Given the description of an element on the screen output the (x, y) to click on. 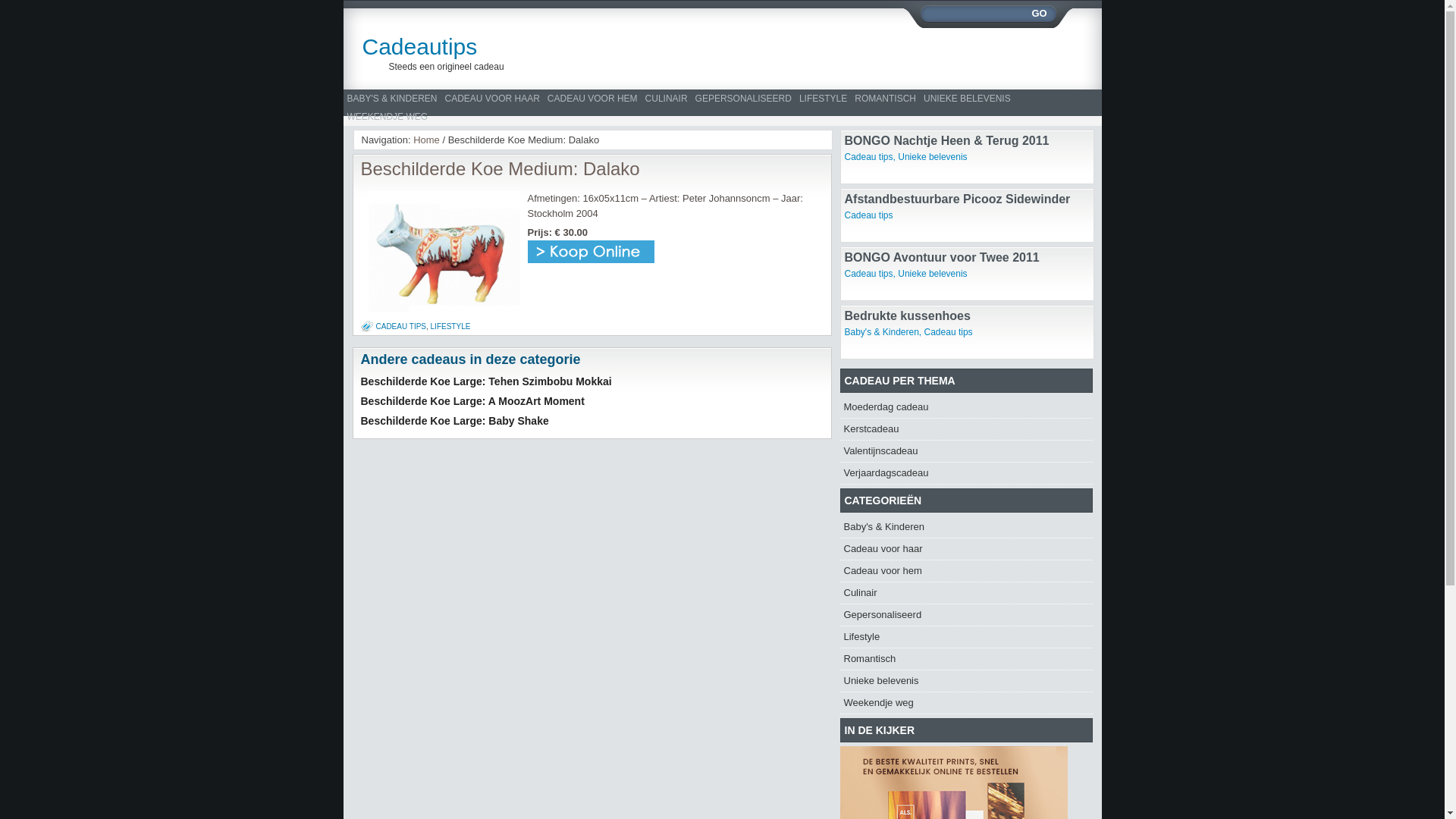
Afstandbestuurbare Picooz Sidewinder helikopter Element type: text (957, 205)
ROMANTISCH Element type: text (884, 98)
Beschilderde Koe Large: Tehen Szimbobu Mokkai Element type: text (485, 381)
CADEAU VOOR HAAR Element type: text (492, 98)
Cadeautips Element type: text (504, 46)
LIFESTYLE Element type: text (822, 98)
Cadeau voor hem Element type: text (882, 570)
BABY'S & KINDEREN Element type: text (391, 98)
Valentijnscadeau Element type: text (880, 450)
Bedrukte kussenhoes Element type: text (907, 315)
Cadeau tips Element type: text (868, 273)
CULINAIR Element type: text (666, 98)
Home Element type: text (426, 139)
Cadeau tips Element type: text (868, 215)
Culinair Element type: text (859, 592)
UNIEKE BELEVENIS Element type: text (966, 98)
Beschilderde Koe Large: Baby Shake Element type: text (454, 420)
WEEKENDJE WEG Element type: text (386, 116)
BONGO Avontuur voor Twee 2011 Element type: text (941, 257)
Unieke belevenis Element type: text (880, 680)
Cadeau voor haar Element type: text (882, 548)
BONGO Nachtje Heen & Terug 2011 Element type: text (946, 140)
Kerstcadeau Element type: text (870, 428)
Weekendje weg Element type: text (878, 702)
Gepersonaliseerd Element type: text (882, 614)
Beschilderde Koe Large: A MoozArt Moment Element type: text (472, 401)
GO Element type: text (1038, 12)
Cadeau tips Element type: text (948, 331)
Cadeau tips Element type: text (868, 156)
Moederdag cadeau Element type: text (885, 406)
Unieke belevenis Element type: text (931, 156)
Beschilderde Koe Medium: Dalako Element type: text (500, 168)
Baby's & Kinderen Element type: text (883, 526)
Lifestyle Element type: text (861, 636)
Romantisch Element type: text (869, 658)
LIFESTYLE Element type: text (450, 326)
Beschilderde Koe Medium: Dalako Element type: hover (590, 259)
Baby's & Kinderen Element type: text (881, 331)
Verjaardagscadeau Element type: text (885, 472)
GEPERSONALISEERD Element type: text (743, 98)
CADEAU VOOR HEM Element type: text (592, 98)
Unieke belevenis Element type: text (931, 273)
CADEAU TIPS Element type: text (401, 326)
